Given the description of an element on the screen output the (x, y) to click on. 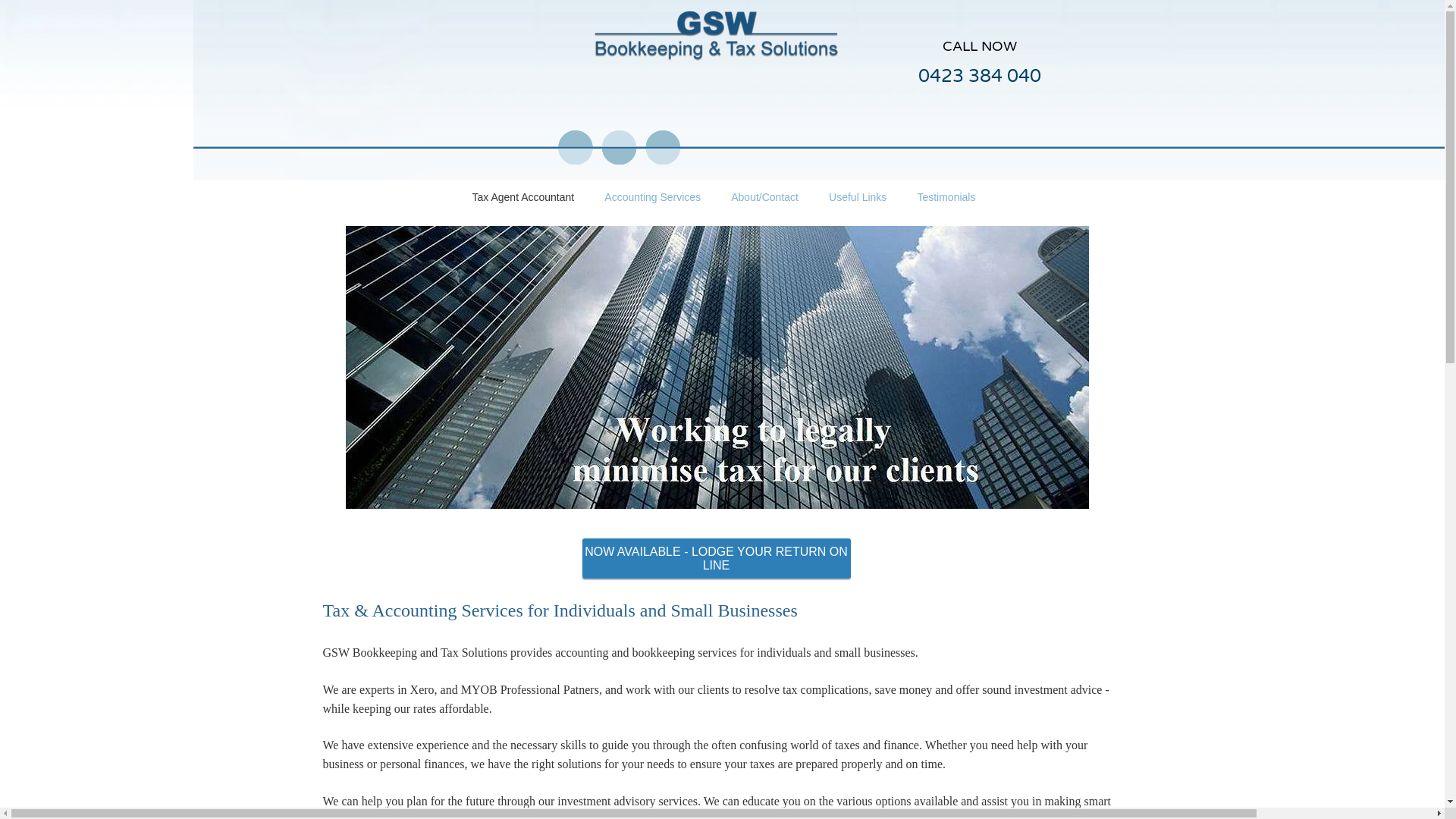
NOW AVAILABLE - LODGE YOUR RETURN ON LINE Element type: text (716, 558)
Useful Links Element type: text (857, 196)
Tax Agent Accountant Element type: text (522, 196)
Testimonials Element type: text (945, 196)
Accounting Services Element type: text (652, 196)
About/Contact Element type: text (764, 196)
